Given the description of an element on the screen output the (x, y) to click on. 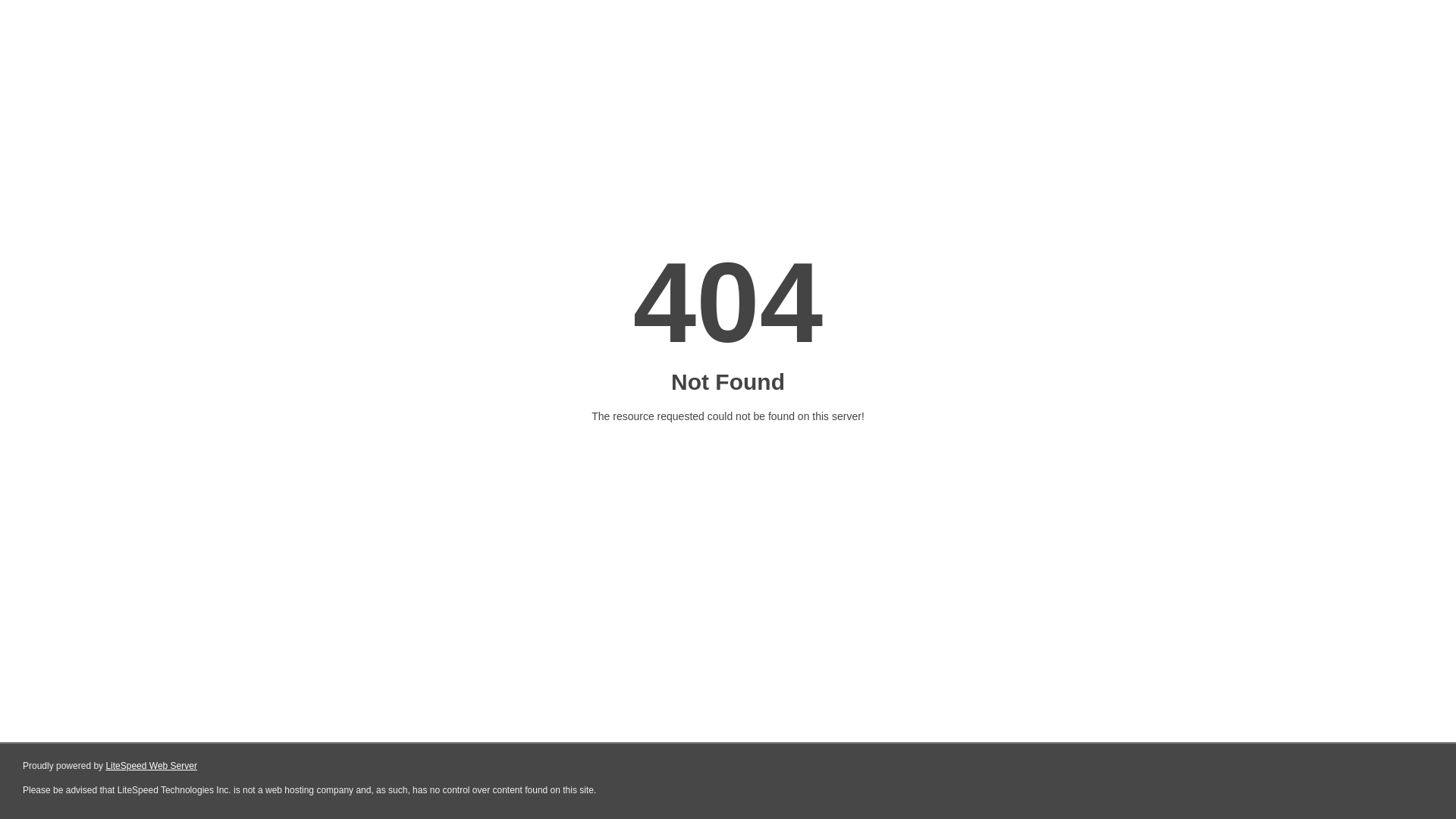
LiteSpeed Web Server Element type: text (151, 765)
